Given the description of an element on the screen output the (x, y) to click on. 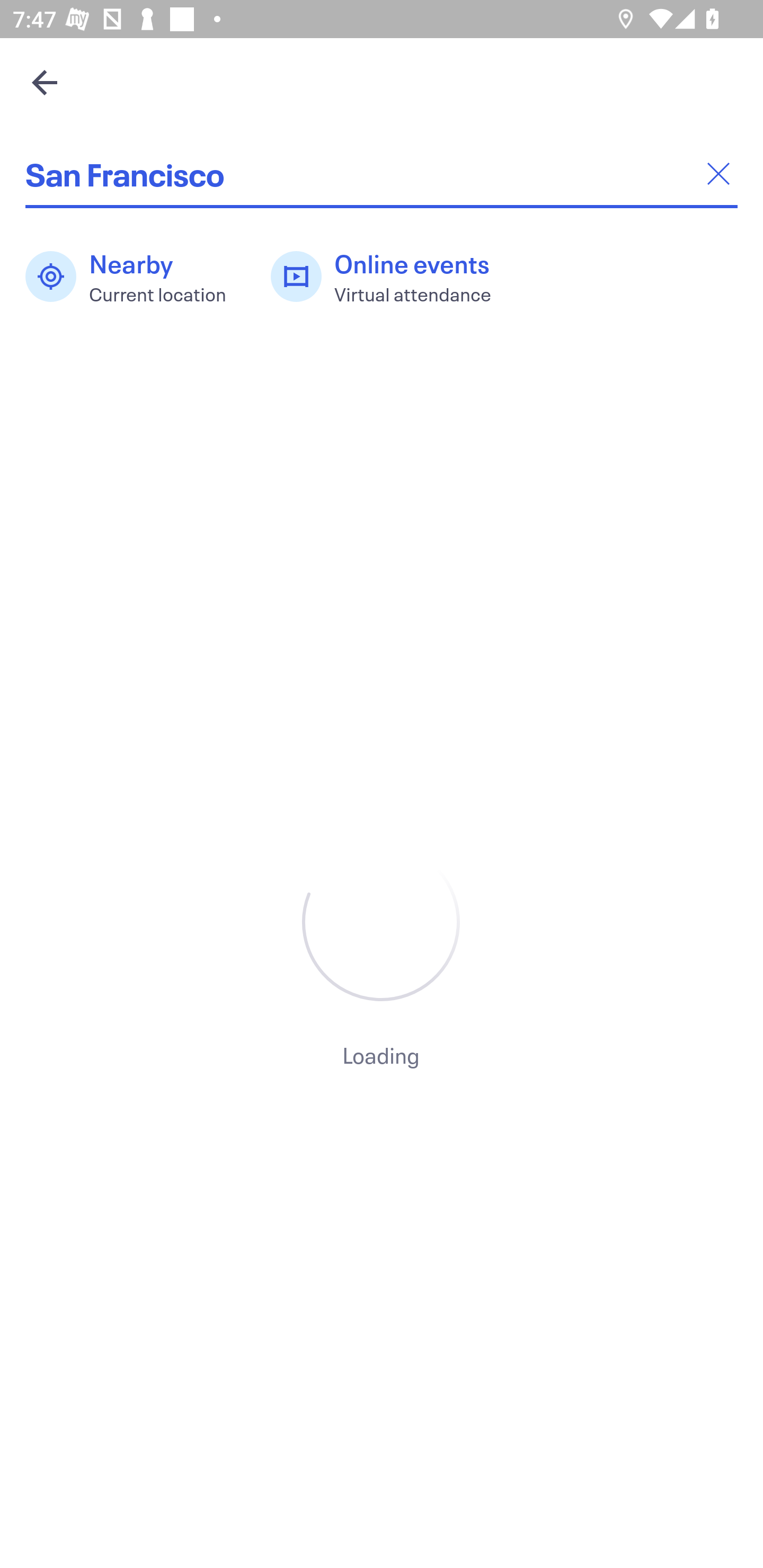
Navigate up (44, 82)
San Francisco (381, 173)
Nearby Current location (135, 276)
Online events Virtual attendance (390, 276)
